Given the description of an element on the screen output the (x, y) to click on. 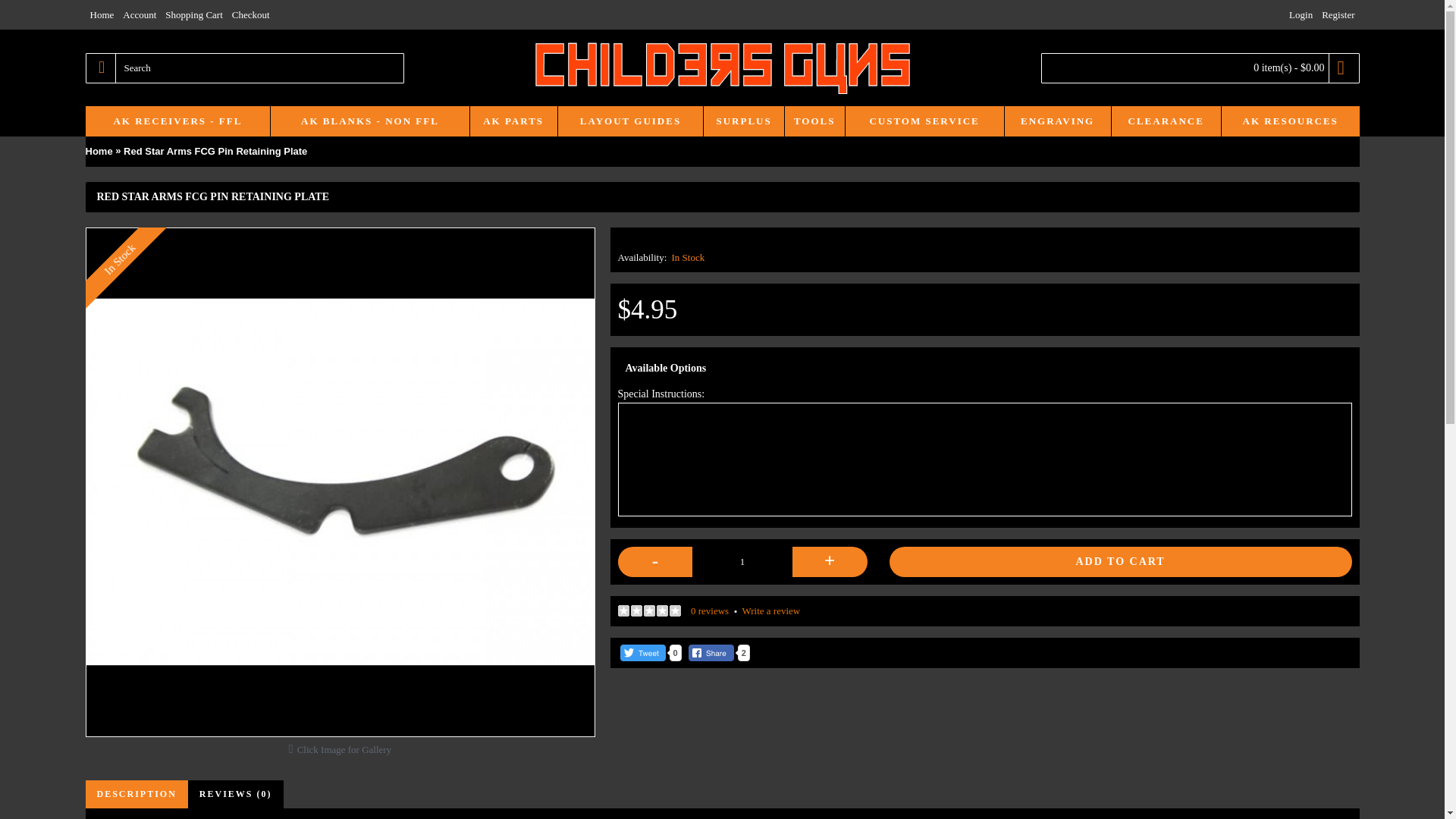
Checkout (251, 15)
Home (100, 15)
Childers Guns LLC (721, 68)
Red Star Arms FCG Pin Retaining Plate (215, 151)
SURPLUS (743, 121)
Search (243, 68)
Home (98, 151)
AK RECEIVERS - FFL (176, 121)
Shopping Cart (193, 15)
ENGRAVING (1057, 121)
- (655, 562)
DESCRIPTION (135, 794)
CLEARANCE (1166, 121)
AK RESOURCES (1290, 121)
